Given the description of an element on the screen output the (x, y) to click on. 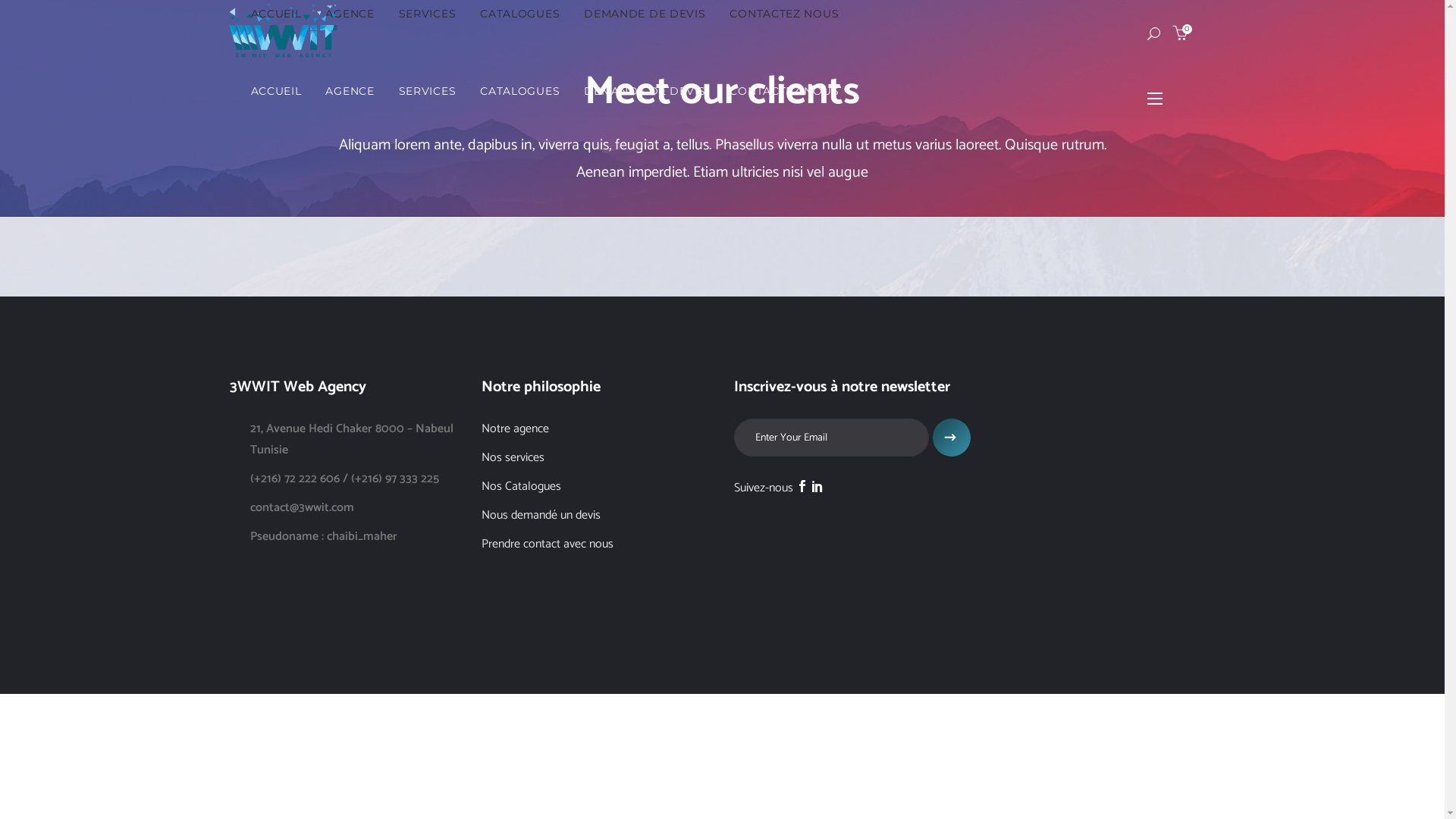
= Element type: text (922, 406)
$ Element type: text (951, 437)
CATALOGUES Element type: text (519, 90)
0 Element type: text (1179, 33)
CONTACTEZ NOUS Element type: text (783, 90)
DEMANDE DE DEVIS Element type: text (644, 90)
AGENCE Element type: text (349, 90)
ACCUEIL Element type: text (275, 90)
SERVICES Element type: text (427, 90)
